Given the description of an element on the screen output the (x, y) to click on. 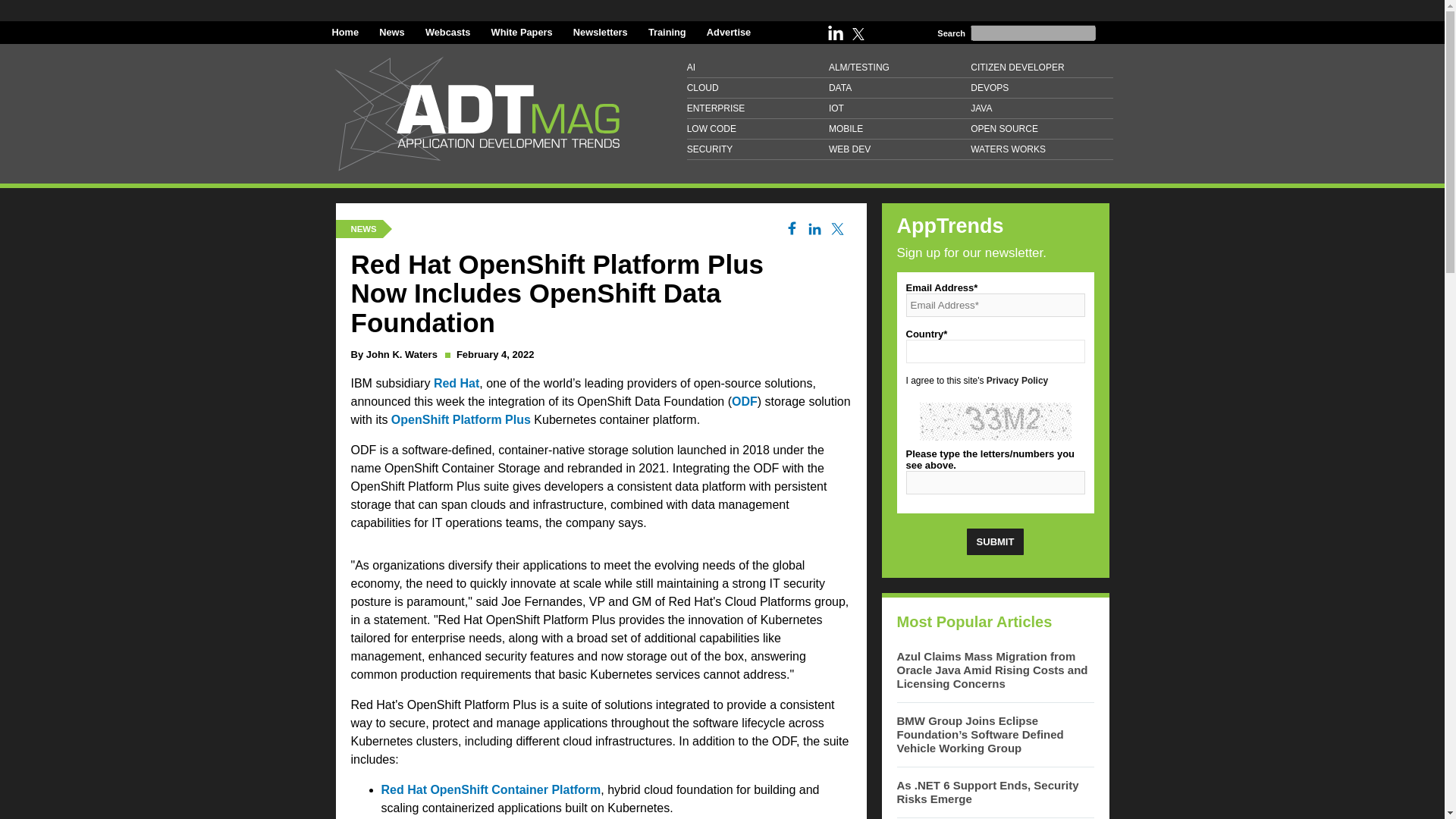
OPEN SOURCE (1041, 128)
ENTERPRISE (757, 108)
Webcasts (447, 31)
White Papers (522, 31)
LOW CODE (757, 128)
Red Hat OpenShift Container Platform (489, 789)
NEWS (362, 228)
WATERS WORKS (1041, 149)
DATA (899, 87)
Advertise (728, 31)
